Given the description of an element on the screen output the (x, y) to click on. 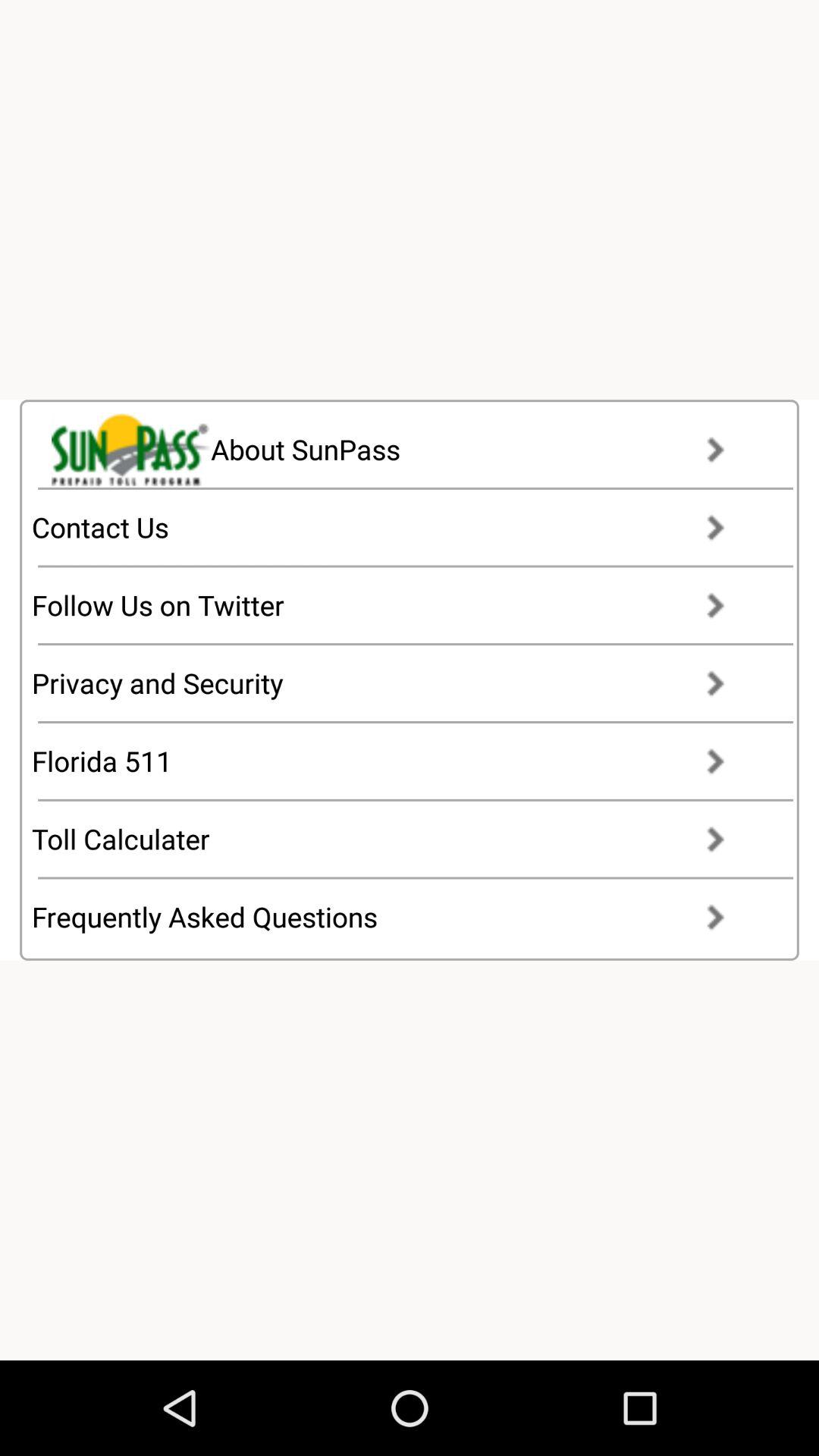
scroll until follow us on item (392, 605)
